Given the description of an element on the screen output the (x, y) to click on. 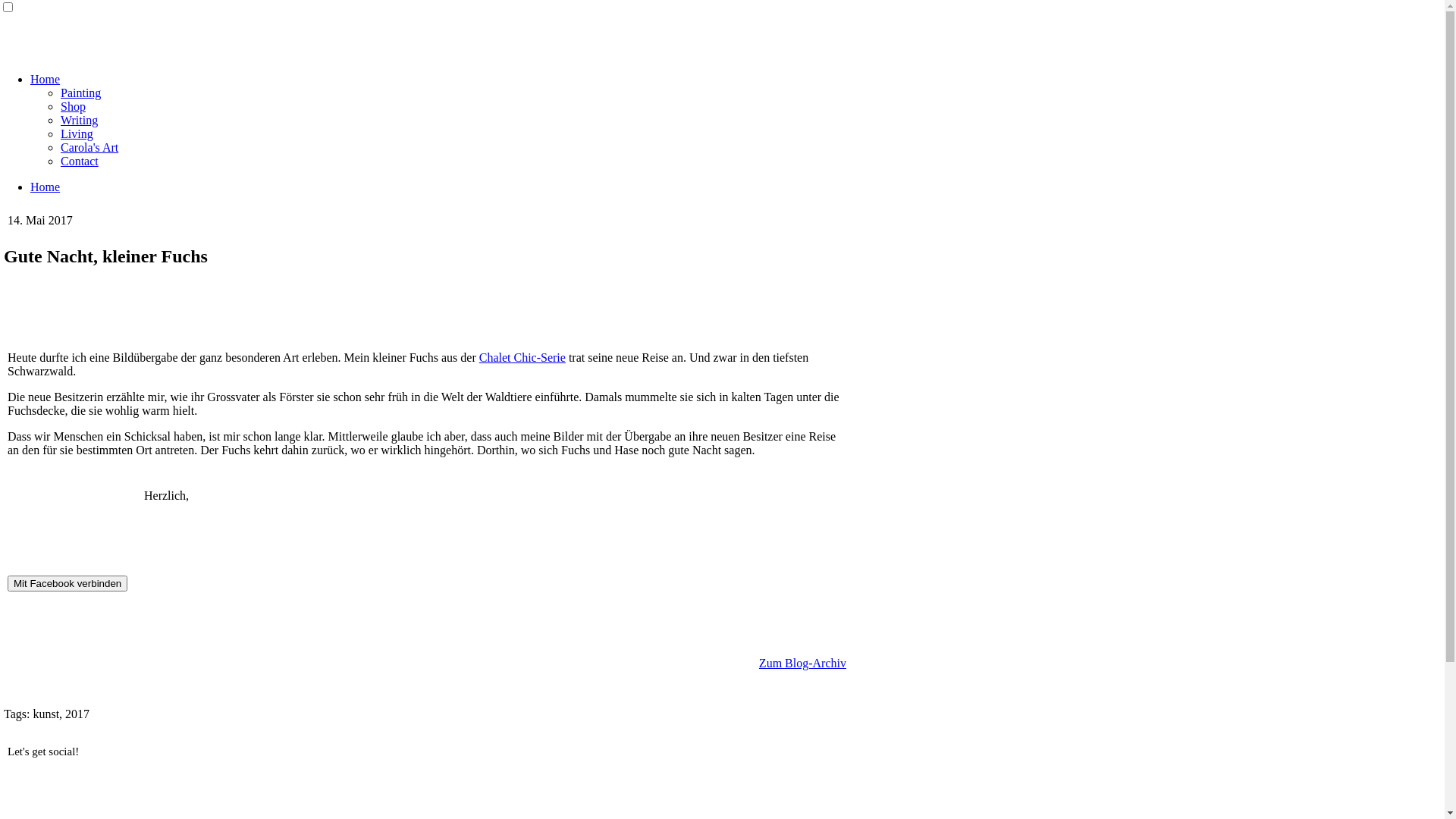
Painting Element type: text (80, 92)
Zum Blog-Archiv Element type: text (802, 662)
Shop Element type: text (72, 106)
Writing Element type: text (78, 119)
Mit Facebook verbinden Element type: text (67, 583)
Home Element type: text (44, 78)
Living Element type: text (76, 133)
Carola's Art Element type: text (89, 147)
Home Element type: text (44, 186)
Chalet Chic-Serie Element type: text (522, 357)
Contact Element type: text (79, 160)
